Given the description of an element on the screen output the (x, y) to click on. 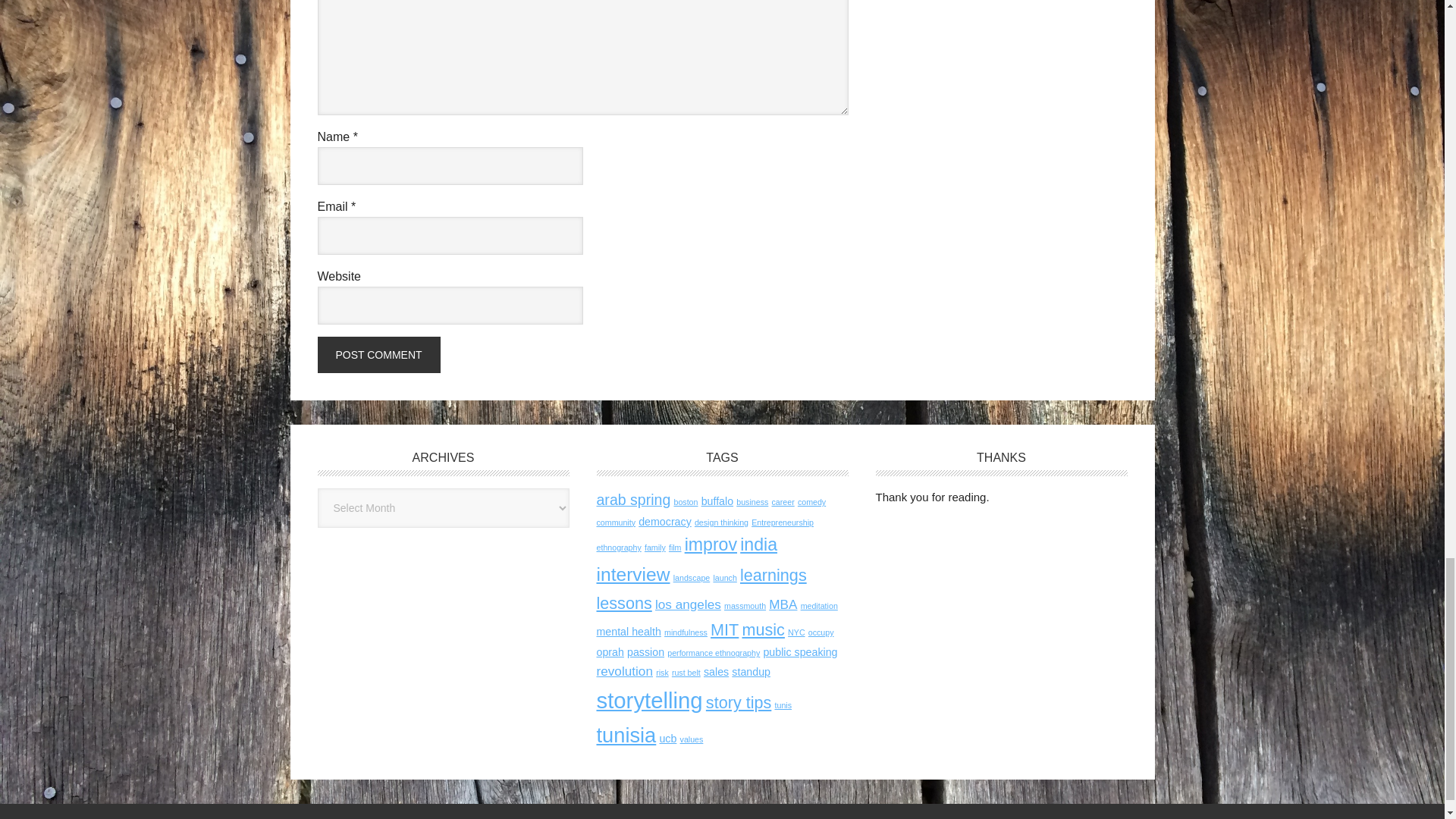
Post Comment (378, 354)
boston (684, 501)
arab spring (632, 499)
Post Comment (378, 354)
